Given the description of an element on the screen output the (x, y) to click on. 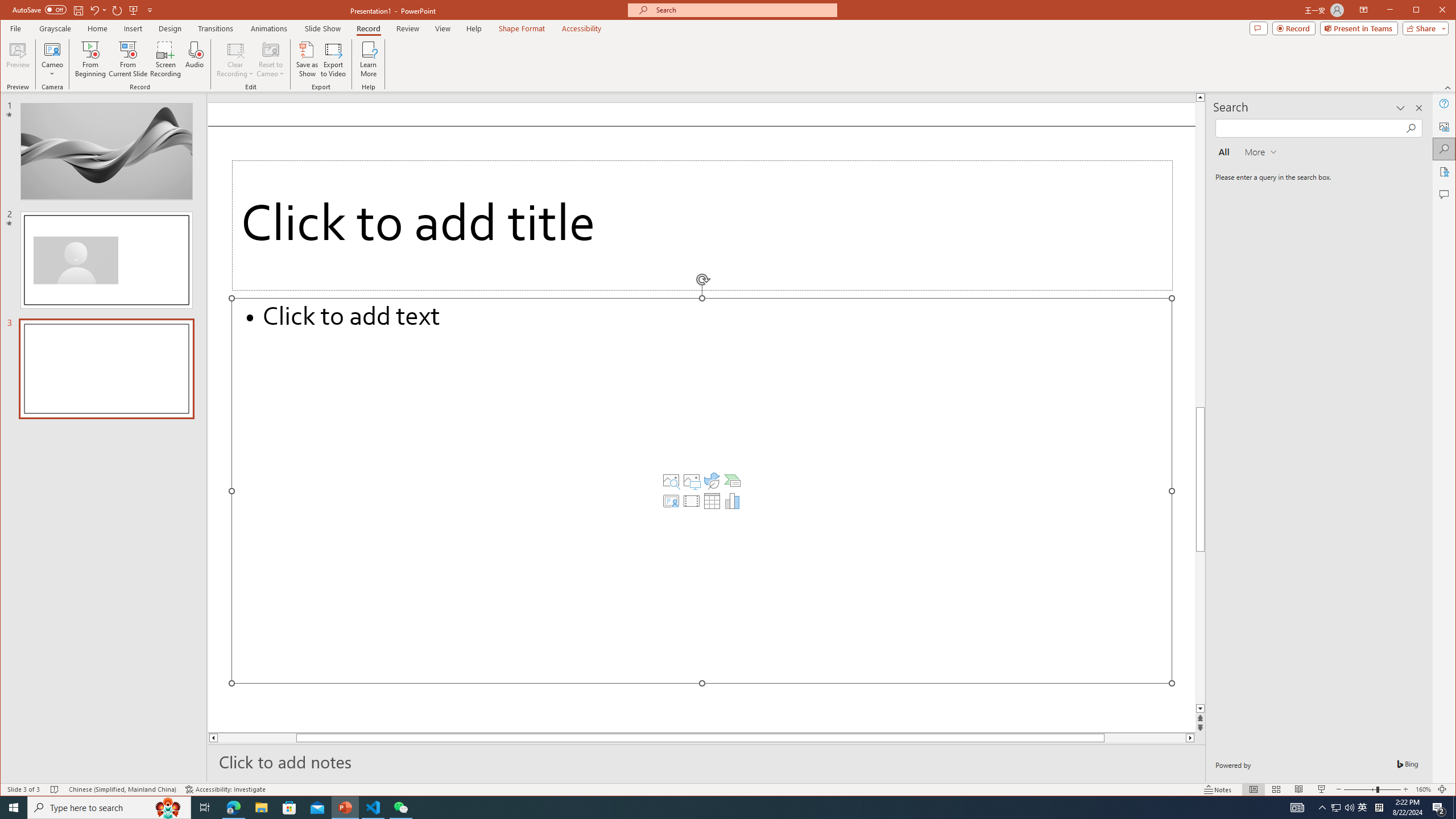
Search (1444, 148)
Shape Format (521, 28)
Save as Show (307, 59)
AutomationID: 4105 (1297, 807)
Q2790: 100% (1349, 807)
File Explorer (261, 807)
From Beginning... (90, 59)
Zoom 160% (1422, 789)
Page down (1162, 737)
